Given the description of an element on the screen output the (x, y) to click on. 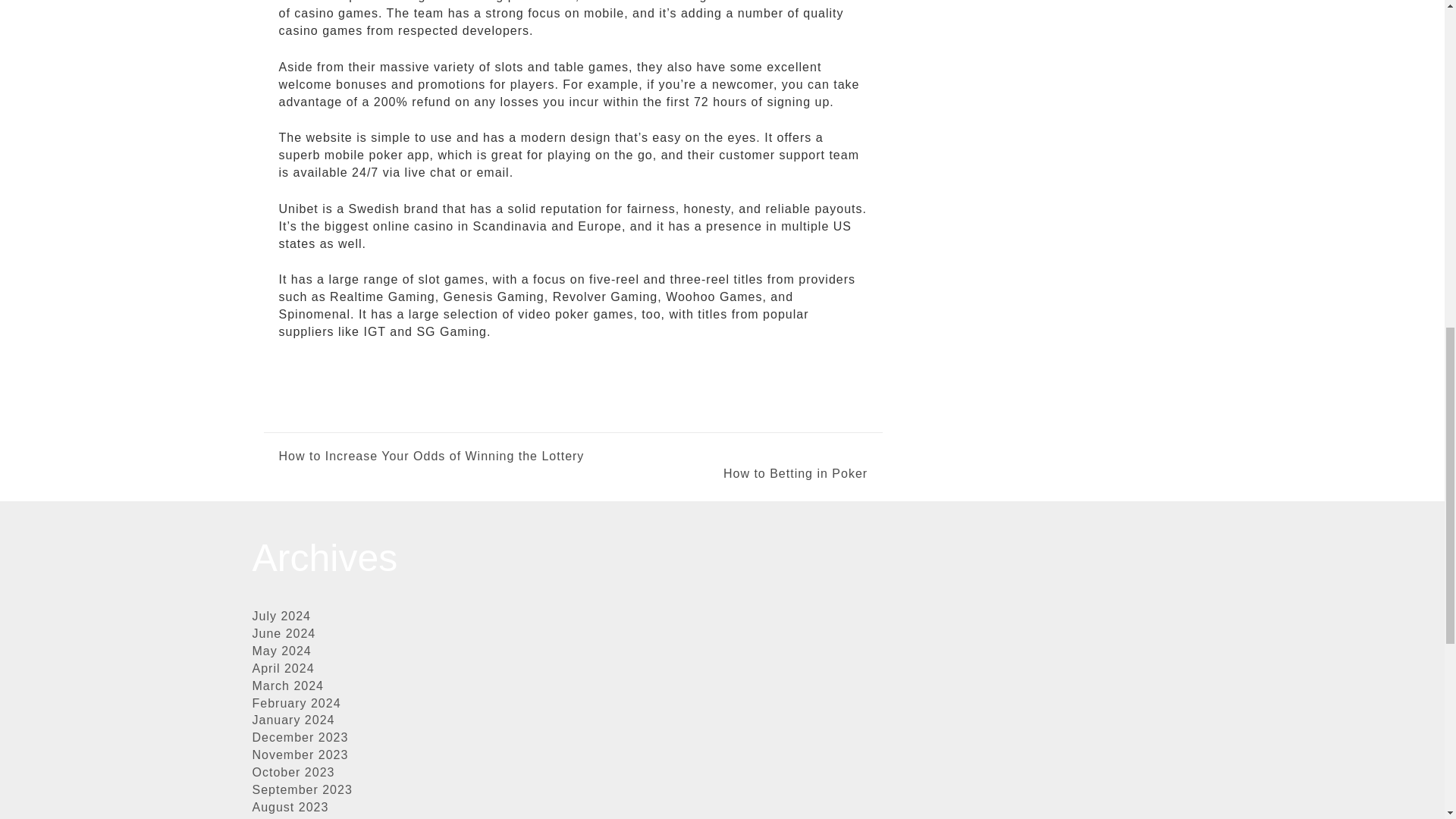
October 2023 (292, 771)
April 2024 (282, 667)
How to Betting in Poker (720, 474)
January 2024 (292, 719)
March 2024 (287, 685)
How to Increase Your Odds of Winning the Lottery (432, 456)
June 2024 (283, 633)
July 2024 (281, 615)
December 2023 (299, 737)
July 2023 (281, 818)
May 2024 (281, 650)
February 2024 (295, 703)
November 2023 (299, 754)
September 2023 (301, 789)
August 2023 (290, 807)
